Given the description of an element on the screen output the (x, y) to click on. 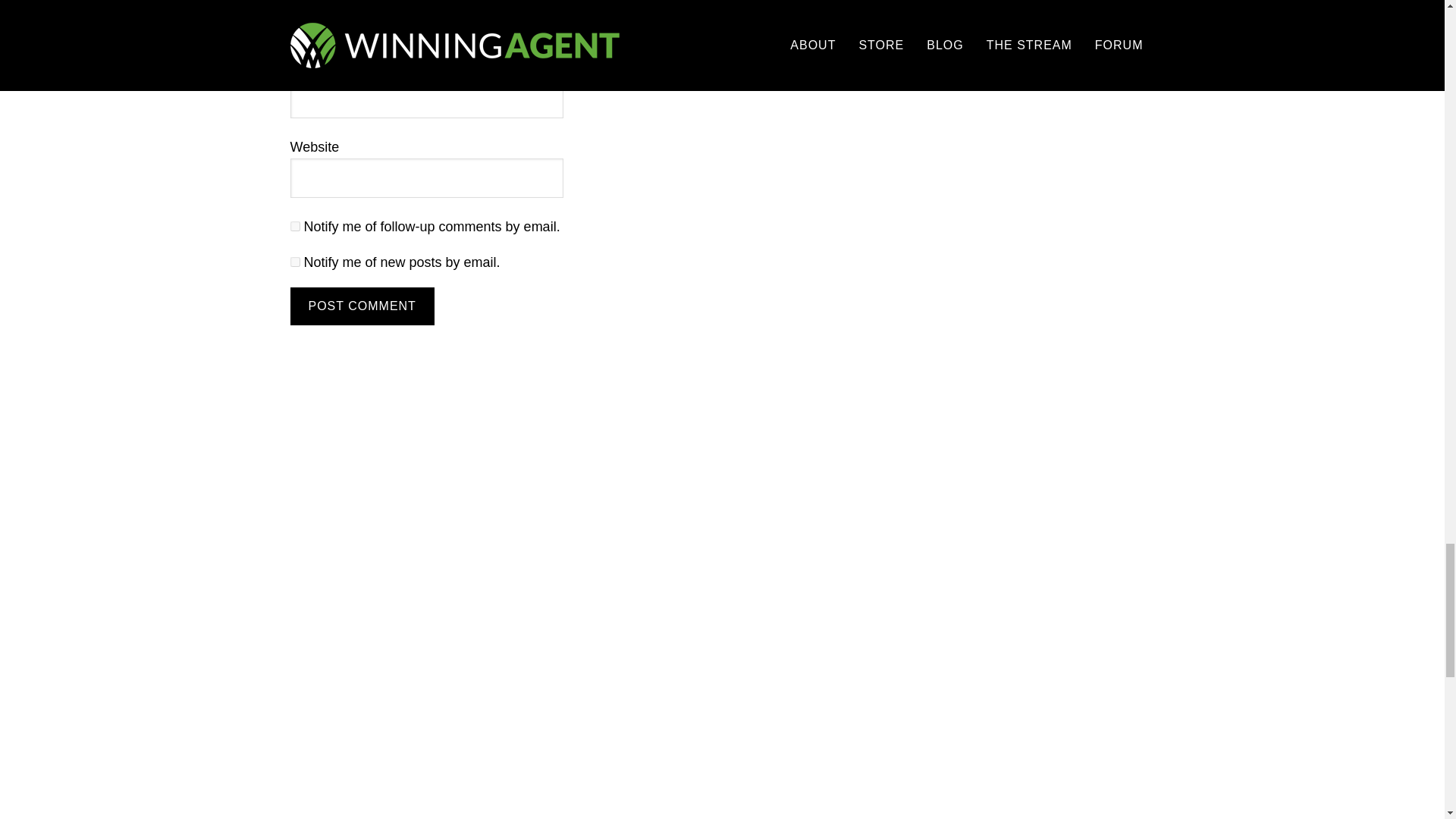
subscribe (294, 225)
Post Comment (361, 306)
subscribe (294, 261)
Post Comment (361, 306)
